Given the description of an element on the screen output the (x, y) to click on. 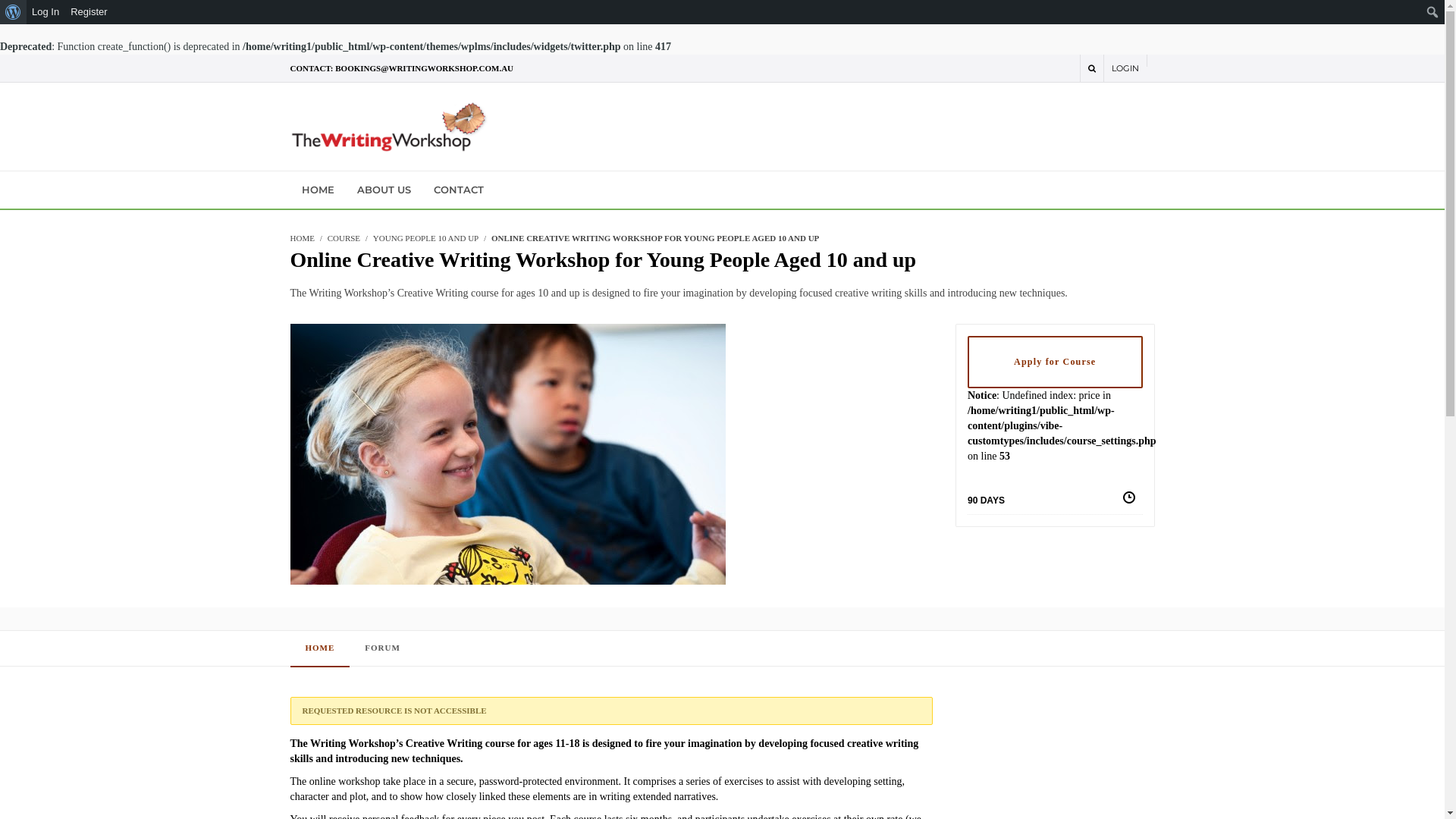
ABOUT US Element type: text (383, 189)
CONTACT Element type: text (457, 189)
HOME Element type: text (317, 189)
Register Element type: text (88, 12)
Log In Element type: text (45, 12)
HOME Element type: text (319, 647)
COURSE Element type: text (343, 237)
Search Element type: text (15, 12)
LOGIN Element type: text (1125, 67)
Apply for Course Element type: text (1054, 361)
FORUM Element type: text (382, 647)
YOUNG PEOPLE 10 AND UP Element type: text (425, 237)
HOME Element type: text (301, 237)
